Given the description of an element on the screen output the (x, y) to click on. 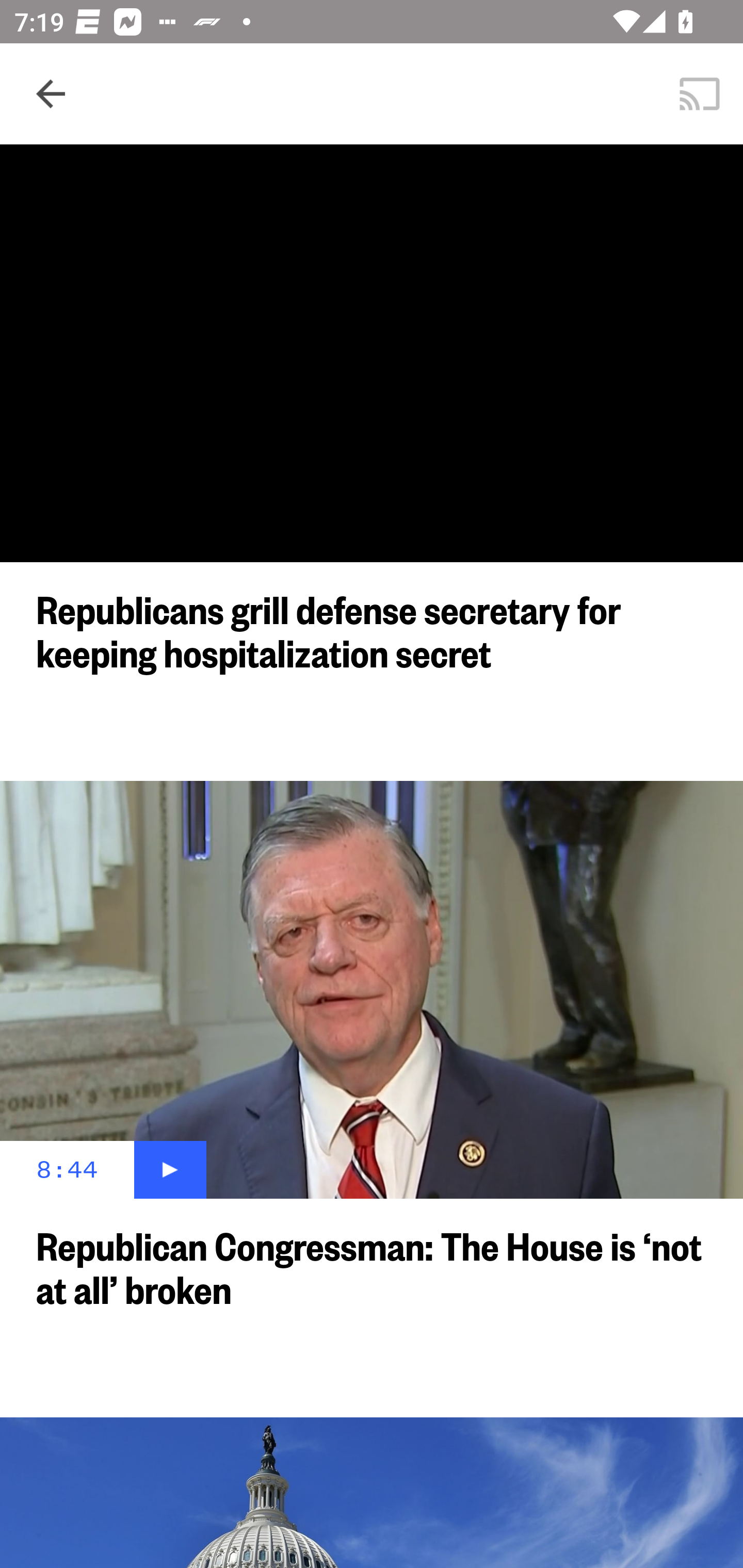
Navigate up (50, 93)
Cast. Disconnected (699, 93)
